Given the description of an element on the screen output the (x, y) to click on. 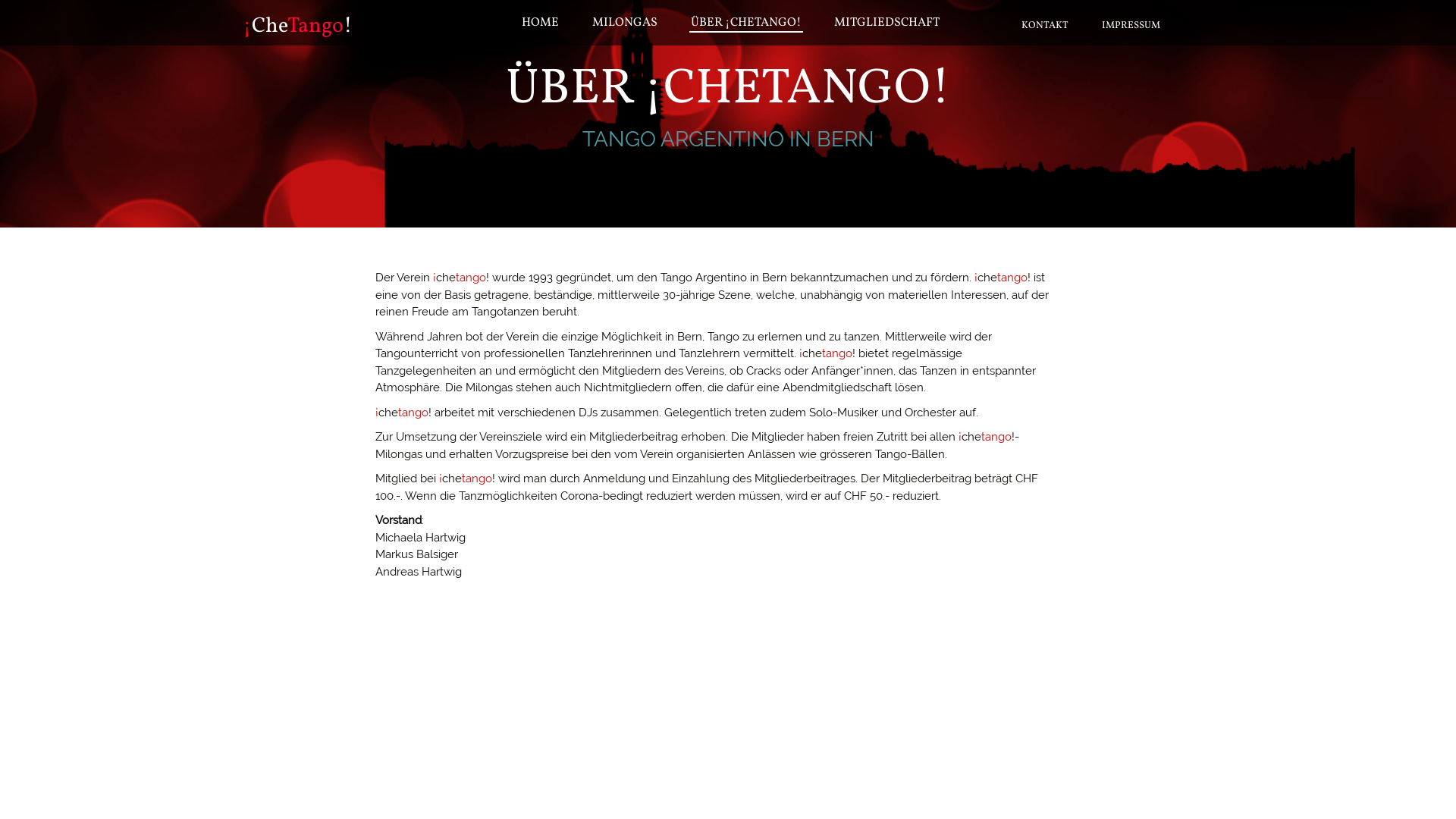
HOME Element type: text (540, 22)
MILONGAS Element type: text (624, 22)
IMPRESSUM Element type: text (1130, 24)
MITGLIEDSCHAFT Element type: text (886, 22)
KONTAKT Element type: text (1044, 24)
